Given the description of an element on the screen output the (x, y) to click on. 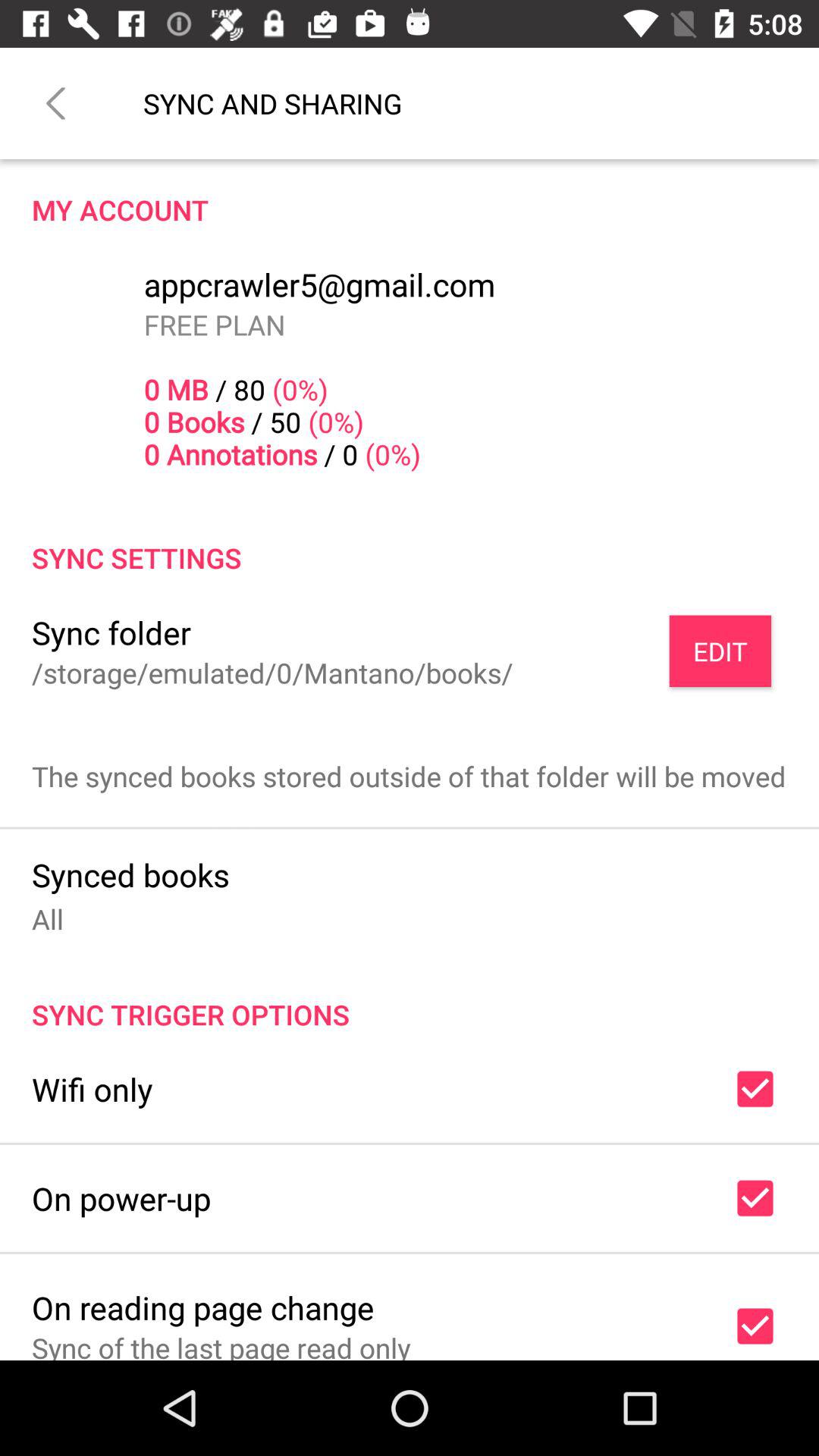
open icon to the right of storage emulated 0 (720, 651)
